Given the description of an element on the screen output the (x, y) to click on. 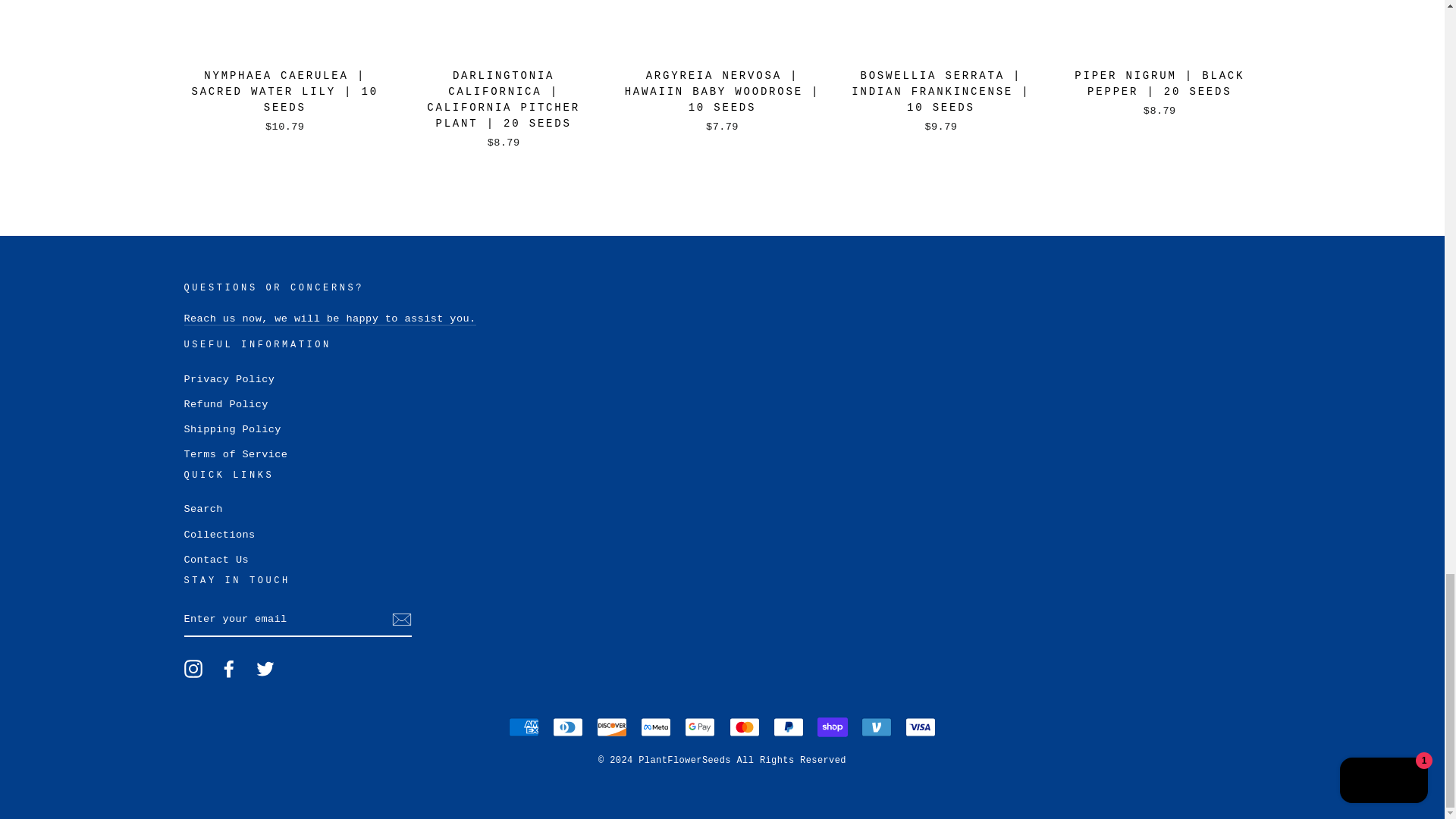
Diners Club (568, 726)
PlantFlowerSeeds on Instagram (192, 669)
Google Pay (699, 726)
American Express (523, 726)
Discover (611, 726)
Meta Pay (655, 726)
Contact Us (329, 318)
PlantFlowerSeeds on Twitter (265, 669)
PlantFlowerSeeds on Facebook (228, 669)
